Given the description of an element on the screen output the (x, y) to click on. 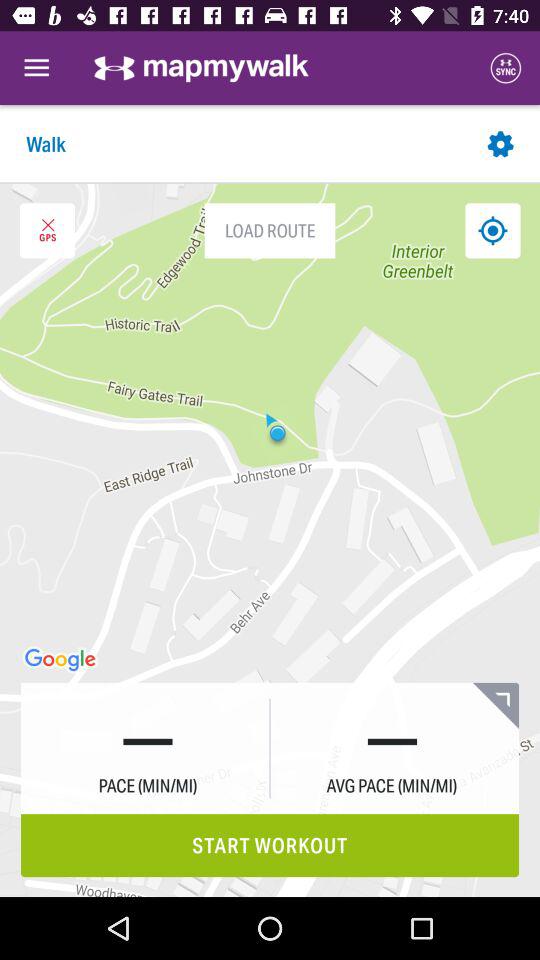
switch gps option (47, 230)
